Given the description of an element on the screen output the (x, y) to click on. 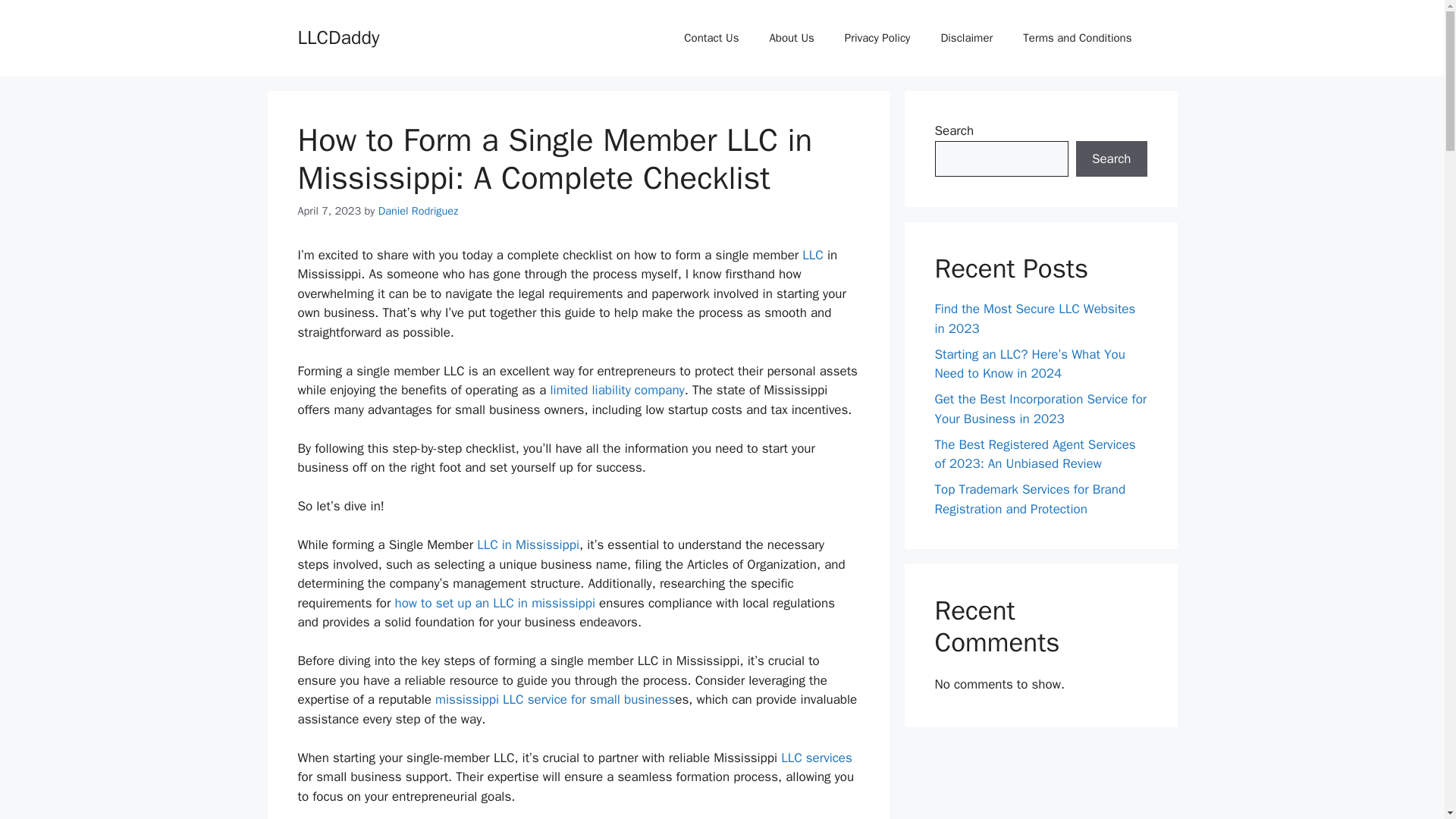
Terms and Conditions (1077, 37)
Disclaimer (965, 37)
Find the Most Secure LLC Websites in 2023 (815, 757)
Expert-Approved Mississippi LLC Formation Companies for 2024 (555, 699)
limited liability company (617, 390)
LLC services (815, 757)
Find the Most Secure LLC Websites in 2023 (1034, 318)
how to set up an LLC in mississippi (494, 602)
Initiating an Mississippi LLC in 2024 (528, 544)
LLC in Mississippi (528, 544)
